Given the description of an element on the screen output the (x, y) to click on. 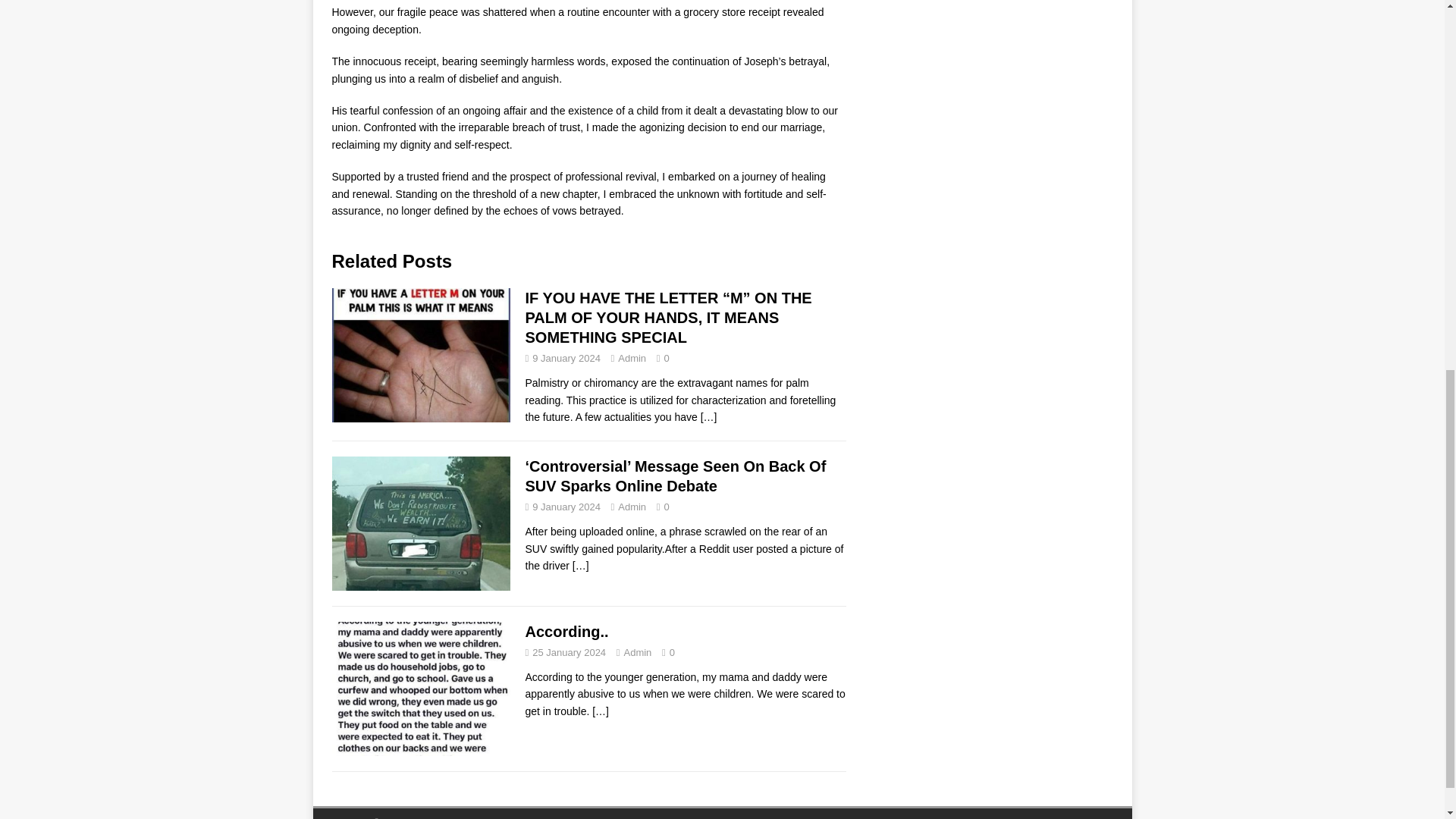
Admin (631, 506)
According.. (600, 711)
Admin (631, 357)
